Given the description of an element on the screen output the (x, y) to click on. 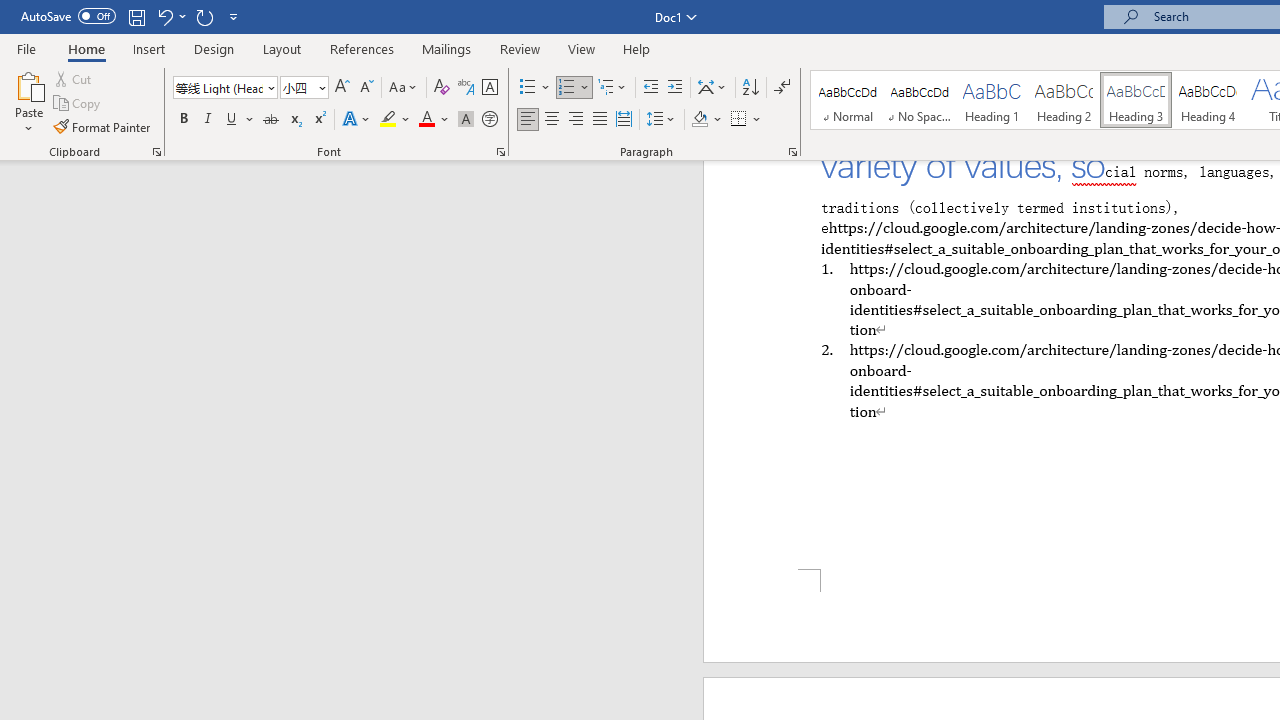
Line and Paragraph Spacing (661, 119)
Show/Hide Editing Marks (781, 87)
Shading RGB(0, 0, 0) (699, 119)
Align Left (527, 119)
Undo Paragraph Alignment (170, 15)
Align Right (575, 119)
Format Painter (103, 126)
Italic (207, 119)
Heading 2 (1063, 100)
Heading 4 (1208, 100)
Grow Font (342, 87)
